Given the description of an element on the screen output the (x, y) to click on. 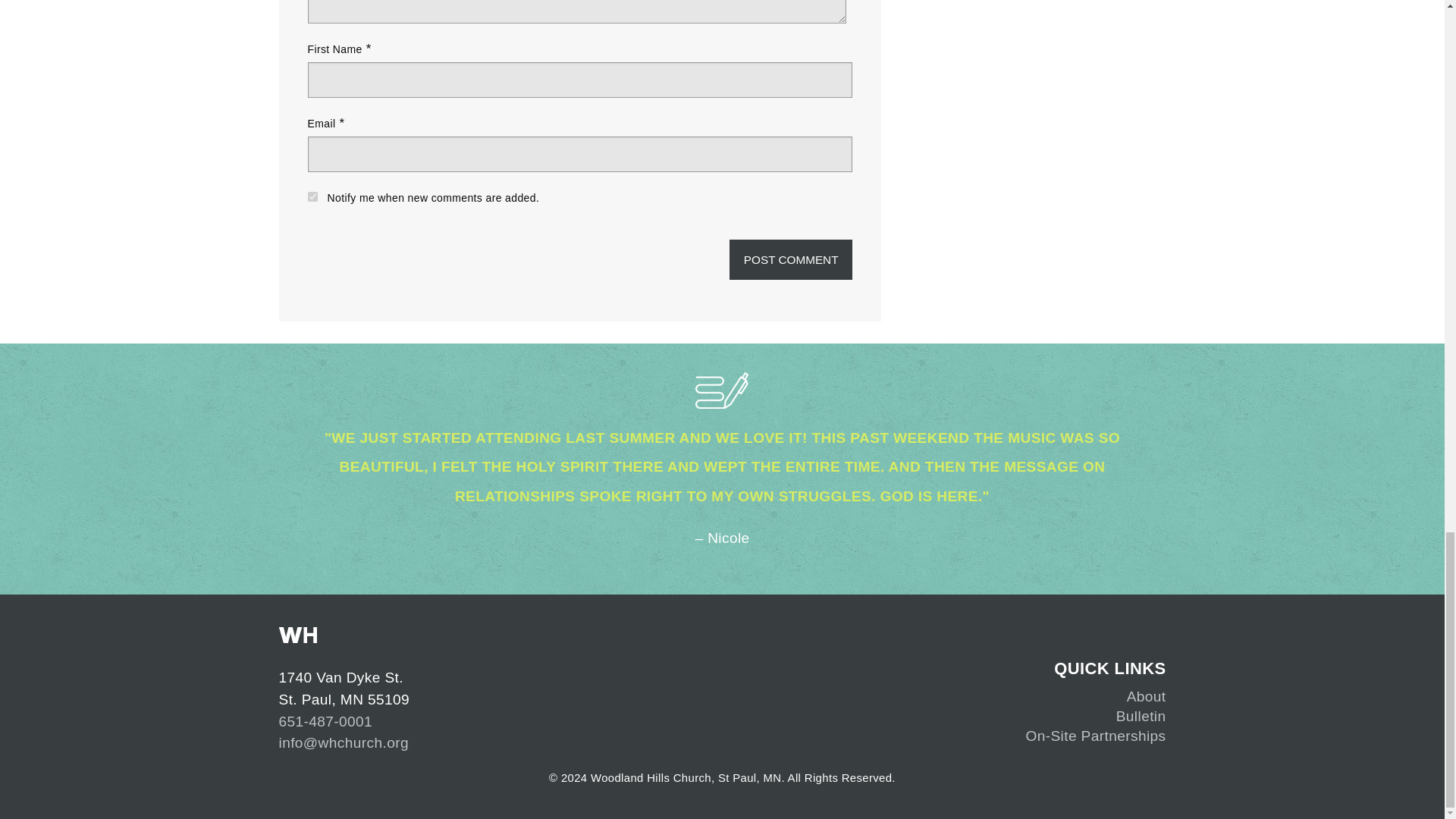
Post Comment (791, 259)
1 (312, 196)
